Given the description of an element on the screen output the (x, y) to click on. 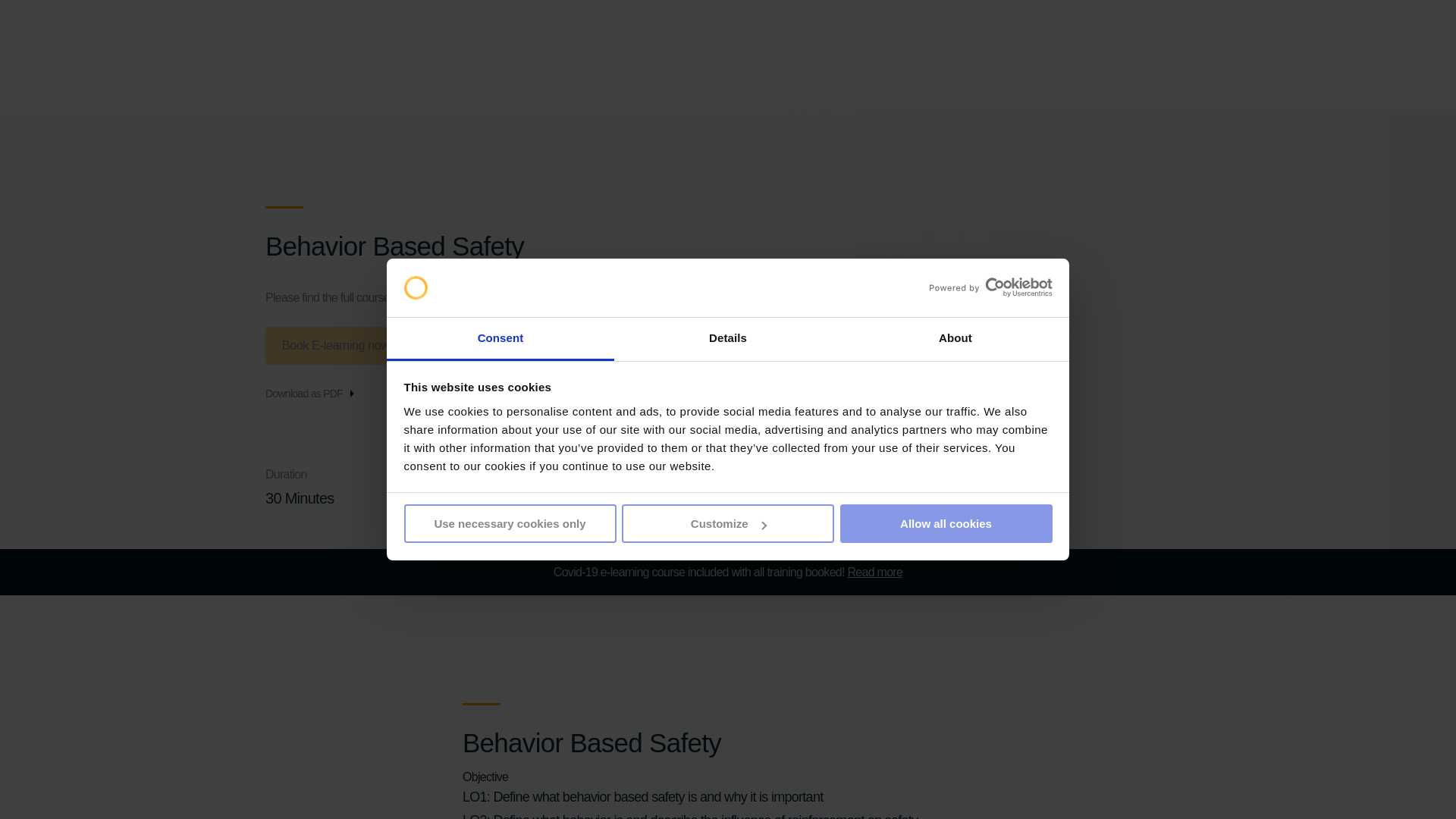
About (954, 339)
Consent (500, 339)
FREE Covid-19 e-learning course (874, 571)
Details (727, 339)
